Given the description of an element on the screen output the (x, y) to click on. 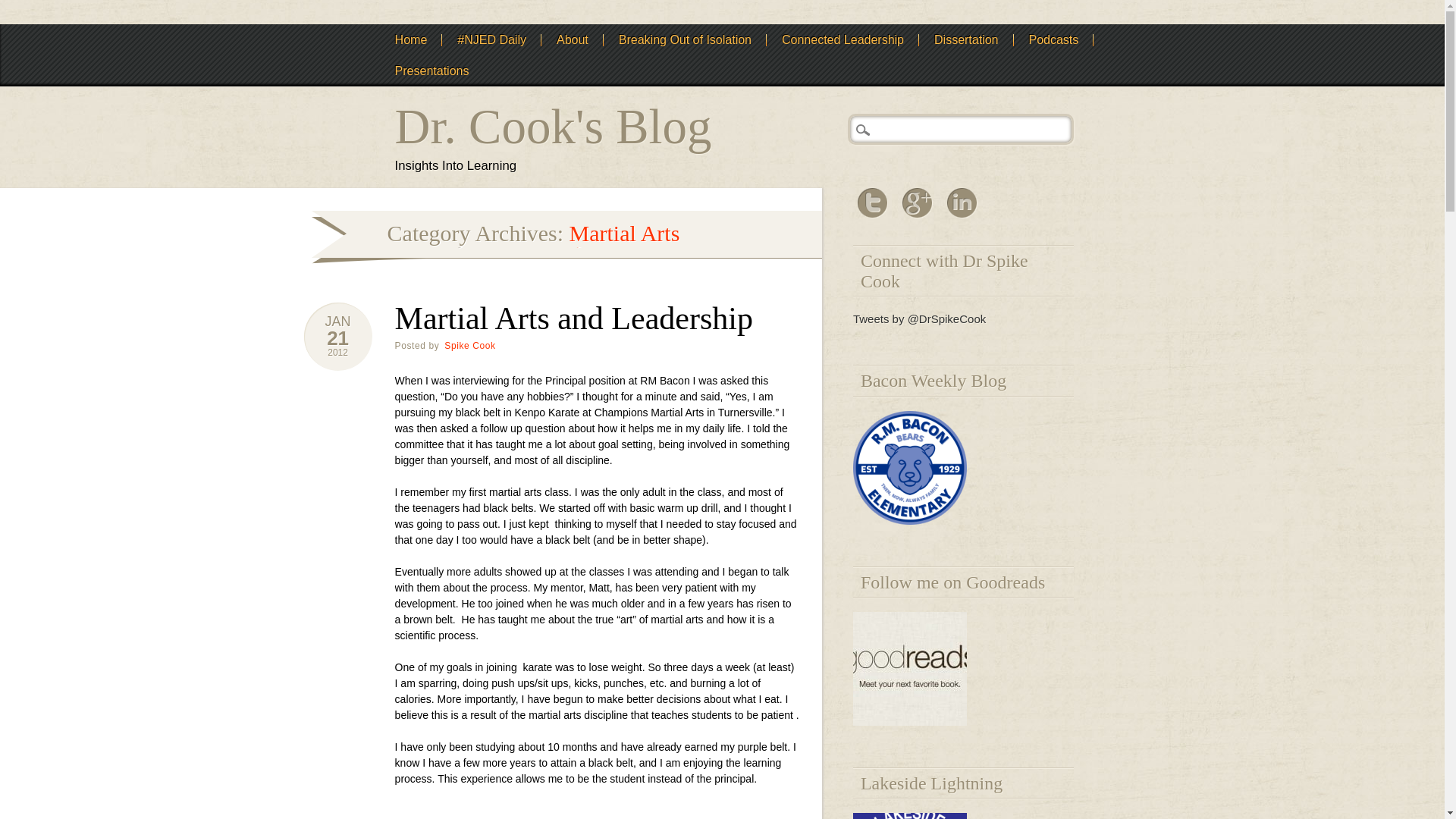
Martial Arts and Leadership (337, 337)
Martial Arts and Leadership (337, 352)
Dr. Cook's Blog (552, 126)
About (572, 39)
Spike Cook (469, 345)
Breaking Out of Isolation (685, 39)
Search (22, 8)
Martial Arts and Leadership (573, 318)
Podcasts (1053, 39)
Bacon Weekly Blog  (909, 520)
